Given the description of an element on the screen output the (x, y) to click on. 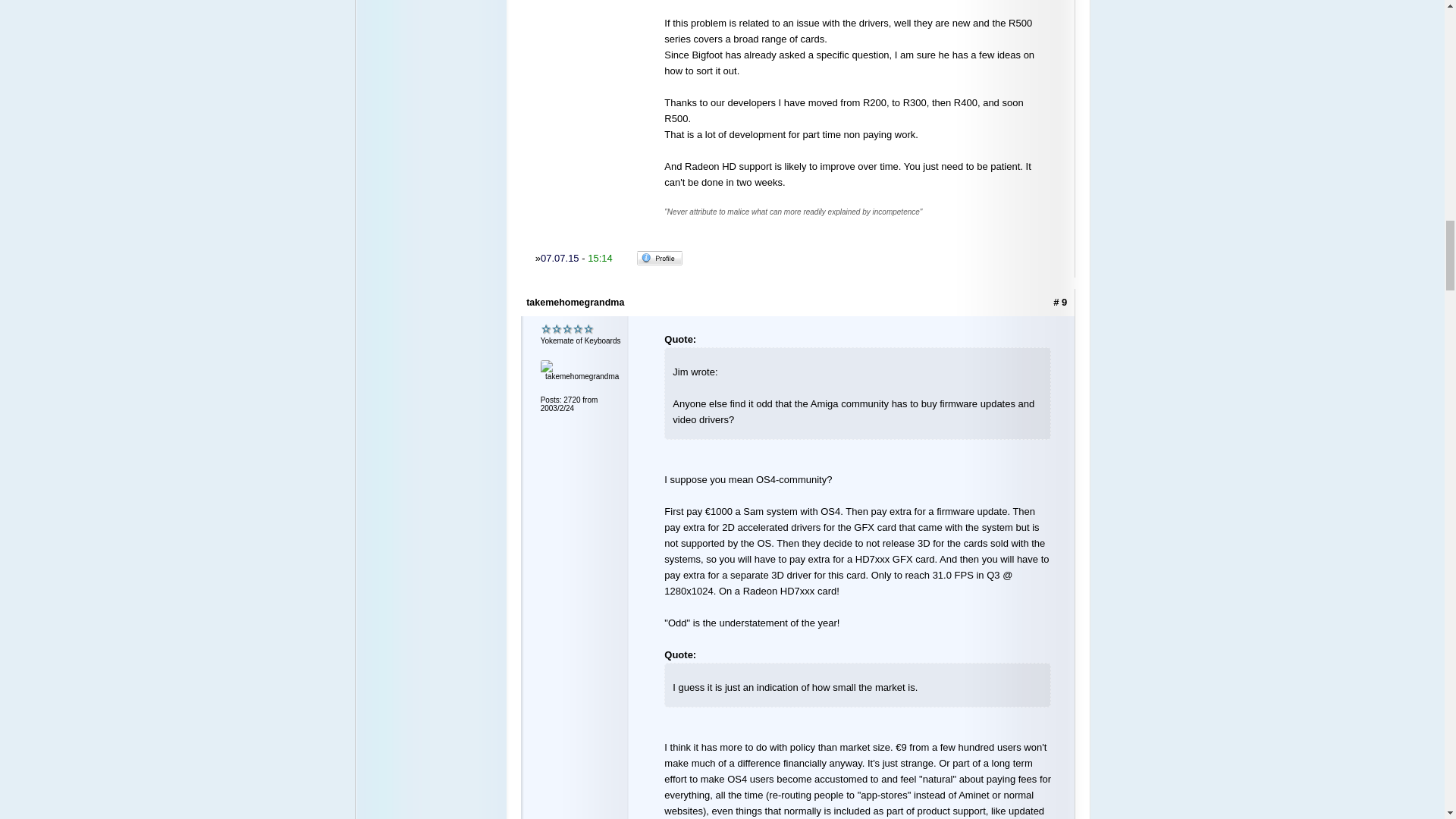
Yokemate of Keyboards (567, 328)
Show alone this post... (1059, 301)
